Given the description of an element on the screen output the (x, y) to click on. 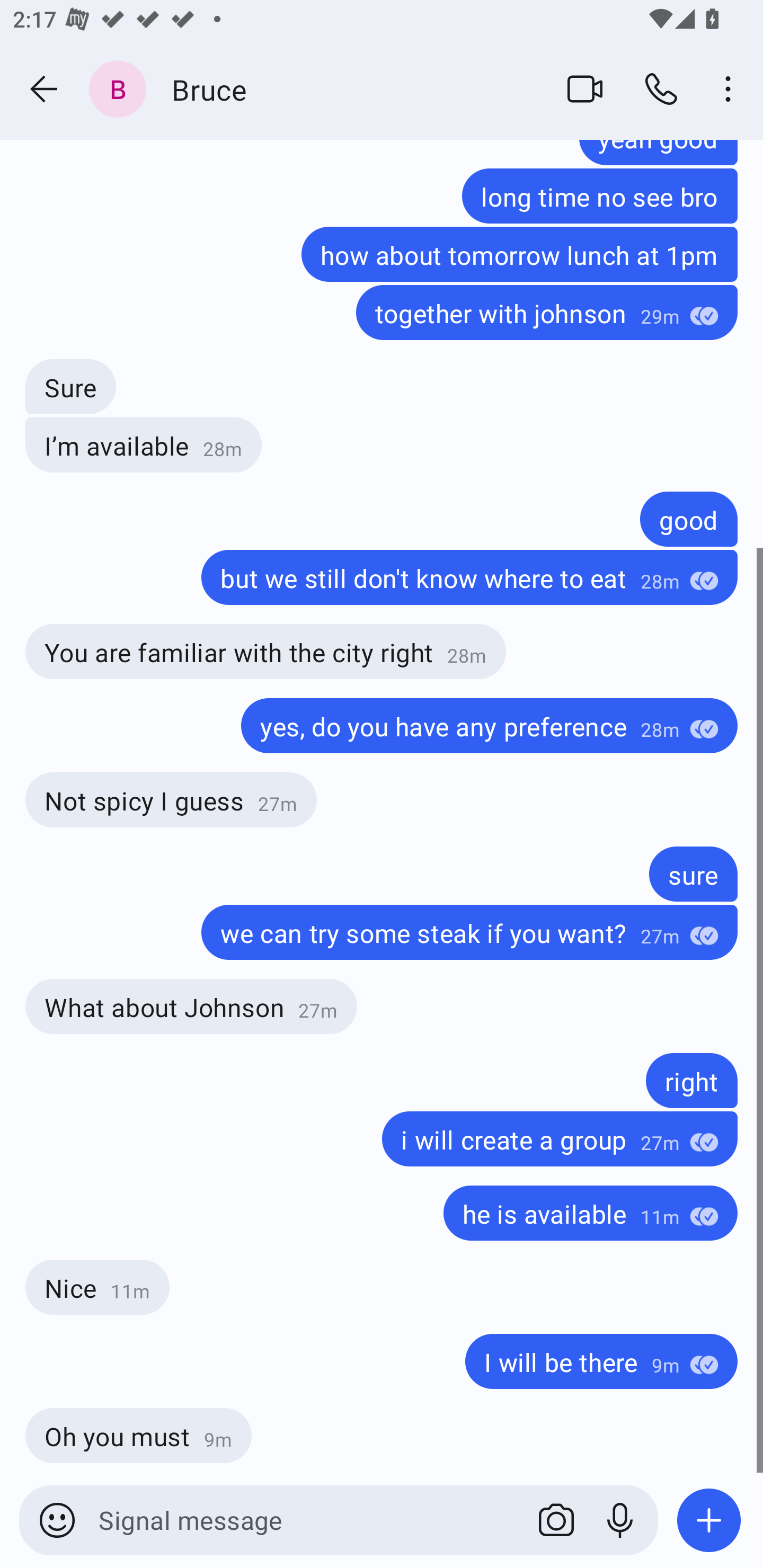
Signal call (661, 88)
